Given the description of an element on the screen output the (x, y) to click on. 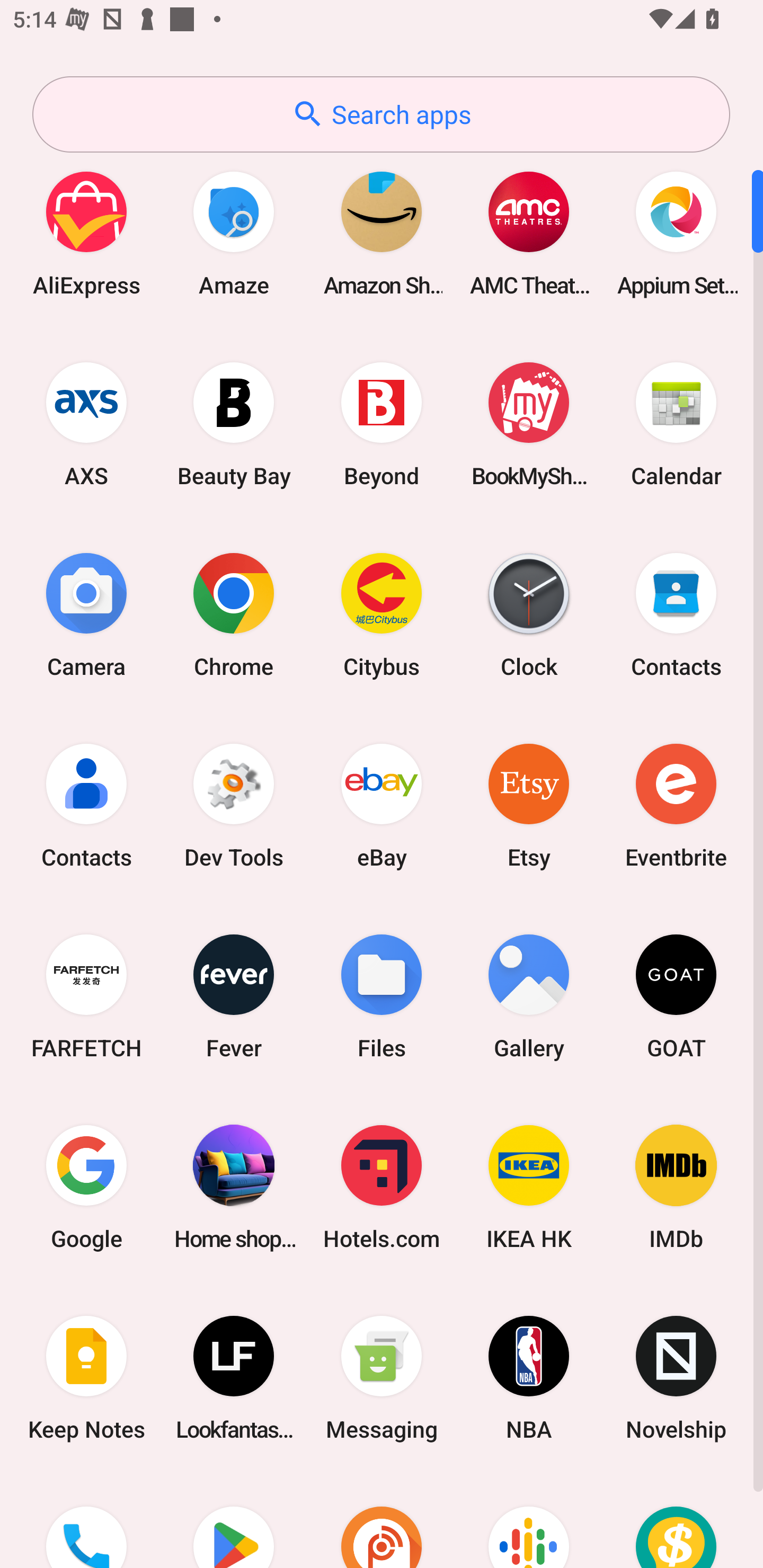
  Search apps (381, 114)
AliExpress (86, 233)
Amaze (233, 233)
Amazon Shopping (381, 233)
AMC Theatres (528, 233)
Appium Settings (676, 233)
AXS (86, 424)
Beauty Bay (233, 424)
Beyond (381, 424)
BookMyShow (528, 424)
Calendar (676, 424)
Camera (86, 614)
Chrome (233, 614)
Citybus (381, 614)
Clock (528, 614)
Contacts (676, 614)
Contacts (86, 805)
Dev Tools (233, 805)
eBay (381, 805)
Etsy (528, 805)
Eventbrite (676, 805)
FARFETCH (86, 996)
Fever (233, 996)
Files (381, 996)
Gallery (528, 996)
GOAT (676, 996)
Google (86, 1186)
Home shopping (233, 1186)
Hotels.com (381, 1186)
IKEA HK (528, 1186)
IMDb (676, 1186)
Keep Notes (86, 1377)
Lookfantastic (233, 1377)
Messaging (381, 1377)
NBA (528, 1377)
Novelship (676, 1377)
Phone (86, 1520)
Play Store (233, 1520)
Podcast Addict (381, 1520)
Podcasts (528, 1520)
Price (676, 1520)
